Given the description of an element on the screen output the (x, y) to click on. 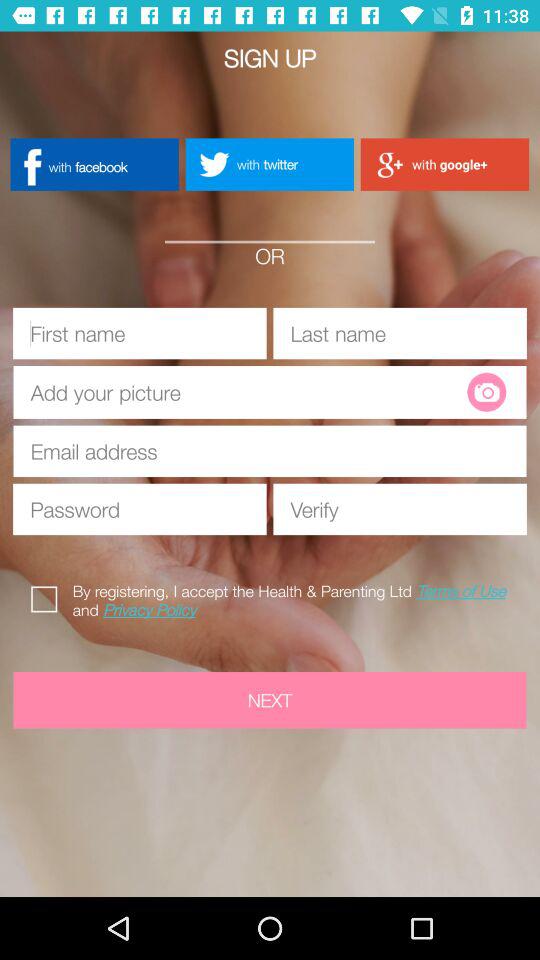
turn off item below the sign up app (269, 164)
